Given the description of an element on the screen output the (x, y) to click on. 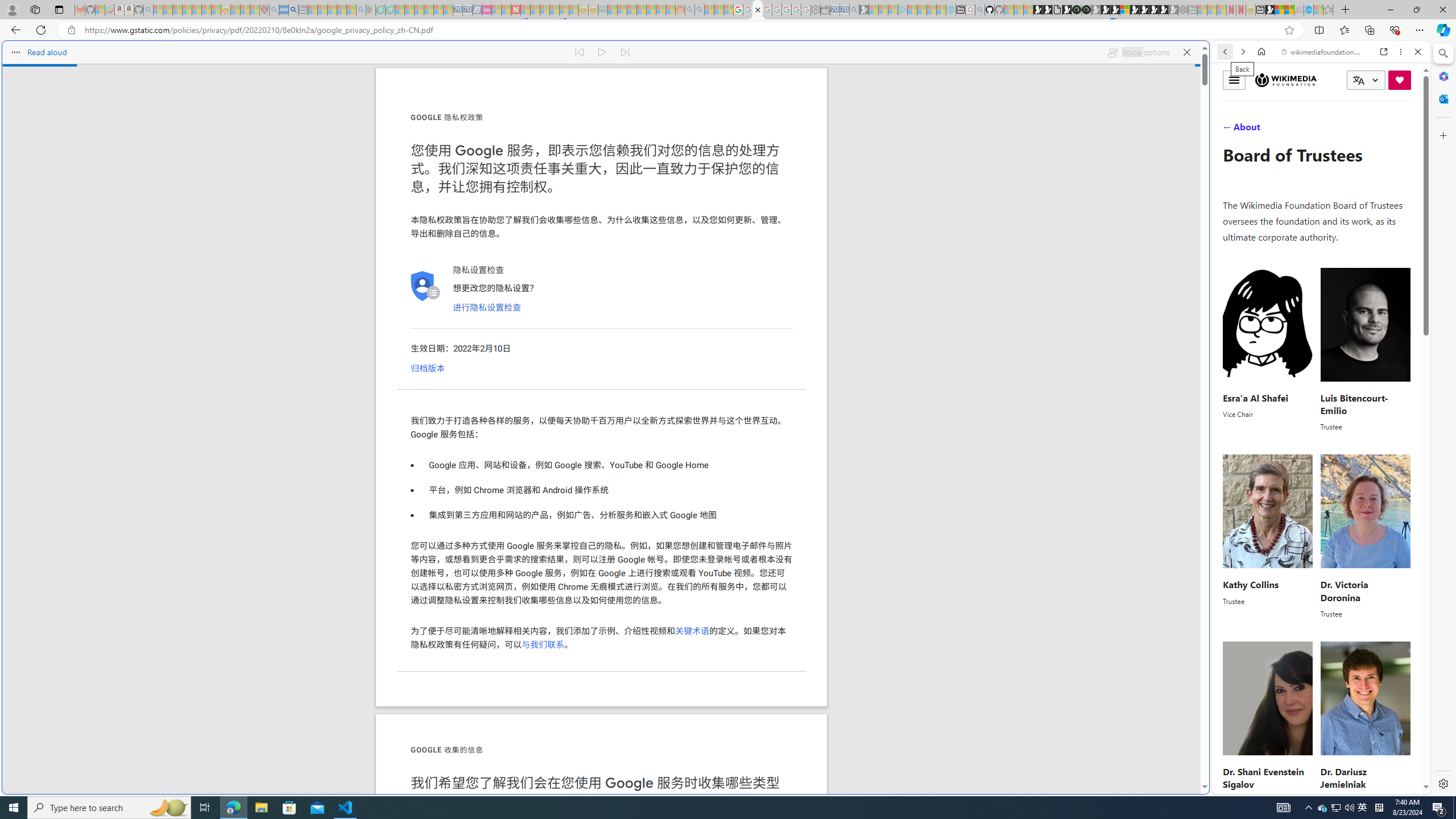
Read next paragraph (624, 52)
Dr. Shani Evenstein Sigalov (1262, 777)
